Given the description of an element on the screen output the (x, y) to click on. 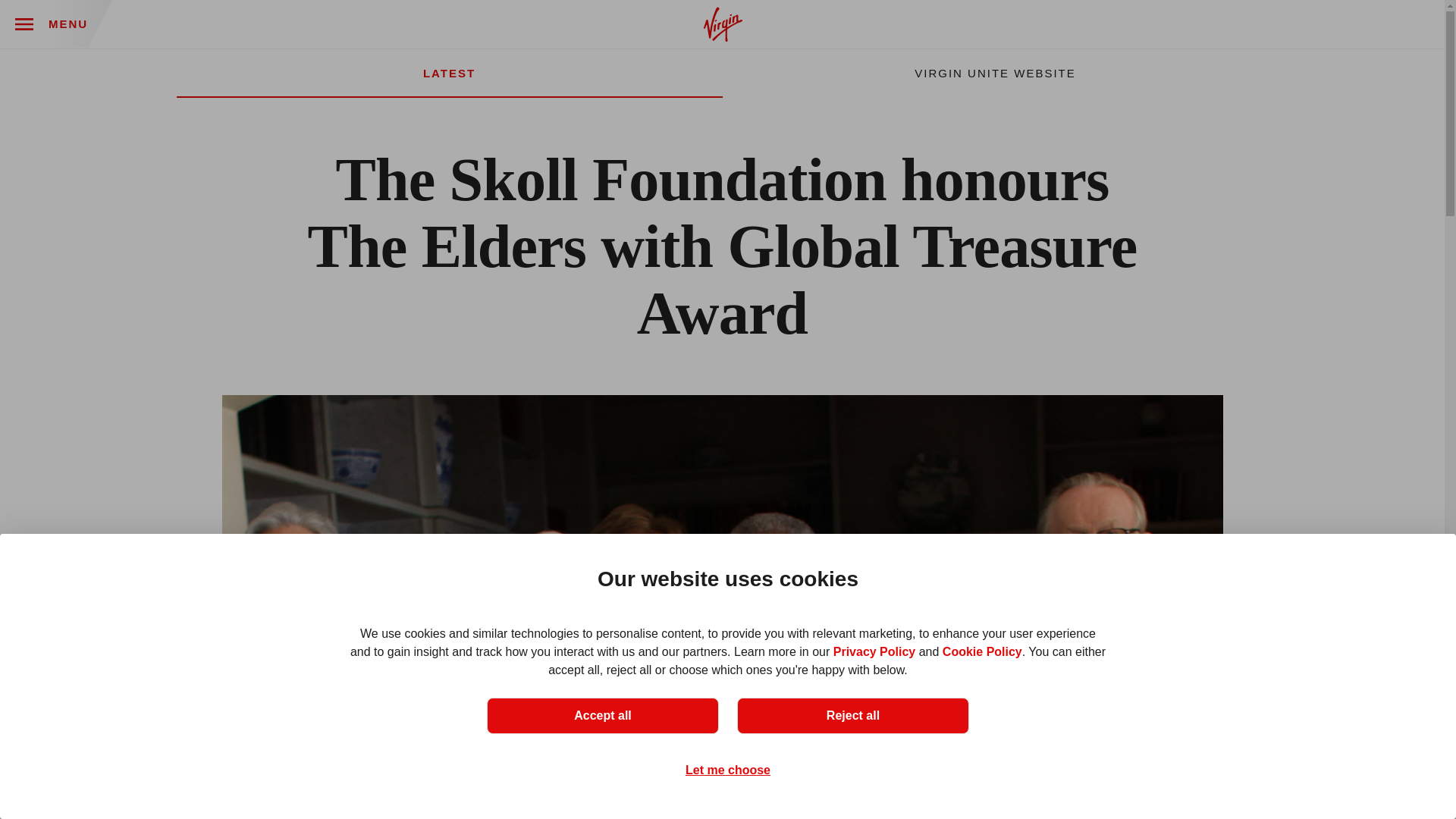
Accept all (602, 715)
VIRGIN UNITE WEBSITE (995, 73)
Privacy Policy (873, 651)
LATEST (449, 73)
Cookie Policy (982, 651)
Let me choose (727, 770)
Reject all (852, 715)
